Given the description of an element on the screen output the (x, y) to click on. 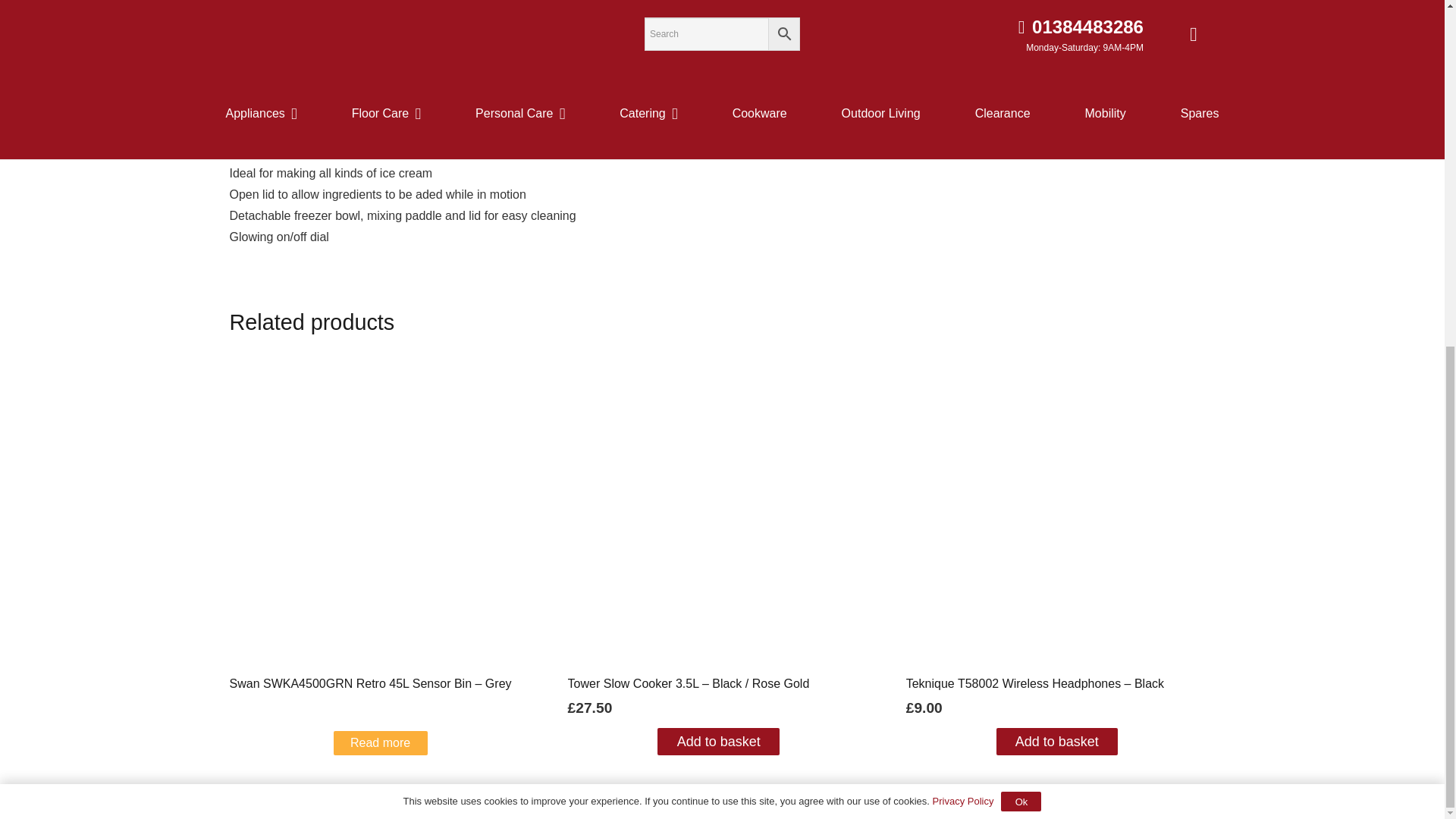
Back to top (1418, 233)
